Given the description of an element on the screen output the (x, y) to click on. 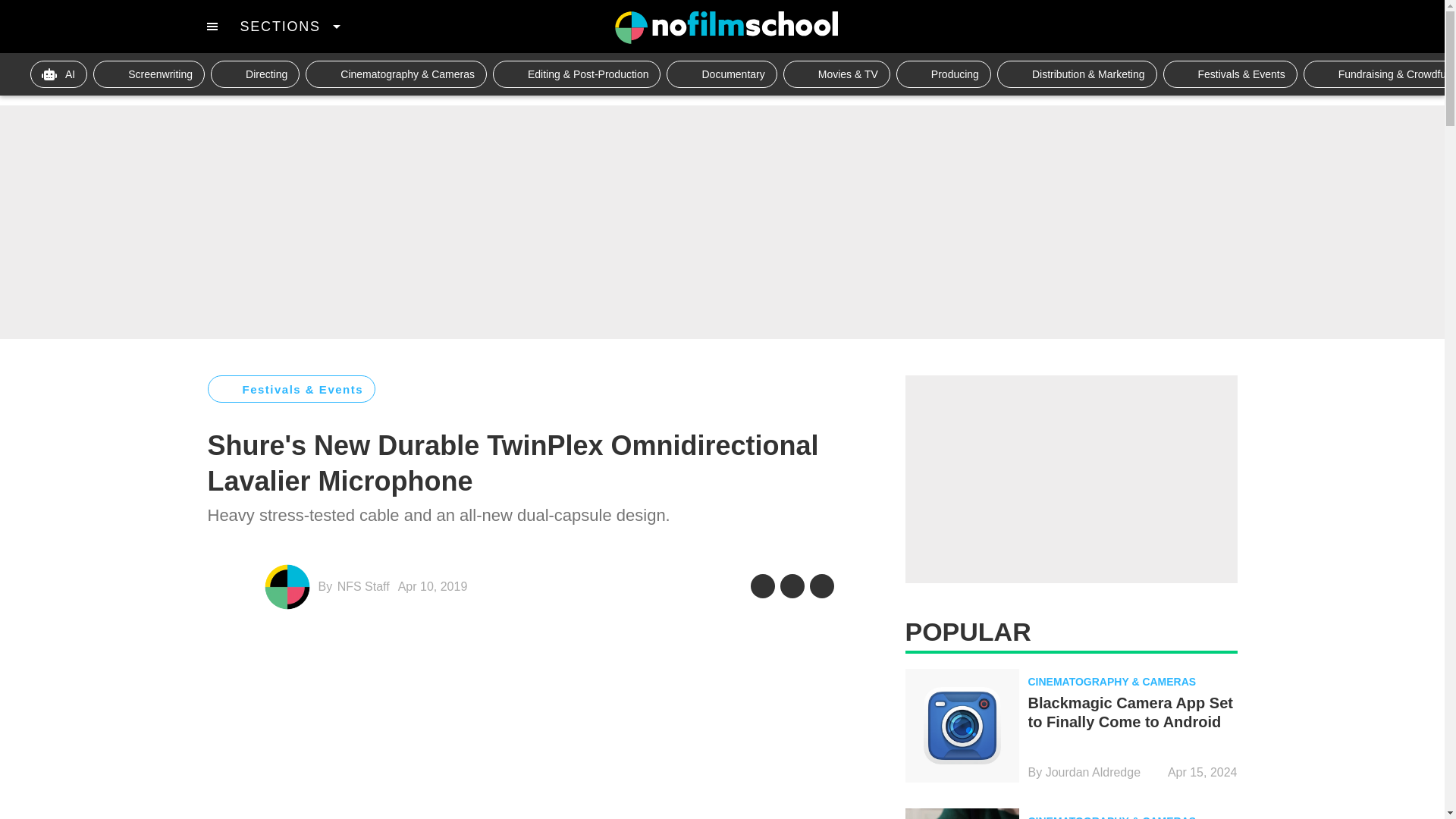
Directing (255, 73)
AI (58, 73)
Screenwriting (149, 73)
NFS Staff (363, 585)
SECTIONS (289, 26)
Documentary (721, 73)
Producing (943, 73)
NO FILM SCHOOL (725, 27)
NO FILM SCHOOL (725, 27)
